Given the description of an element on the screen output the (x, y) to click on. 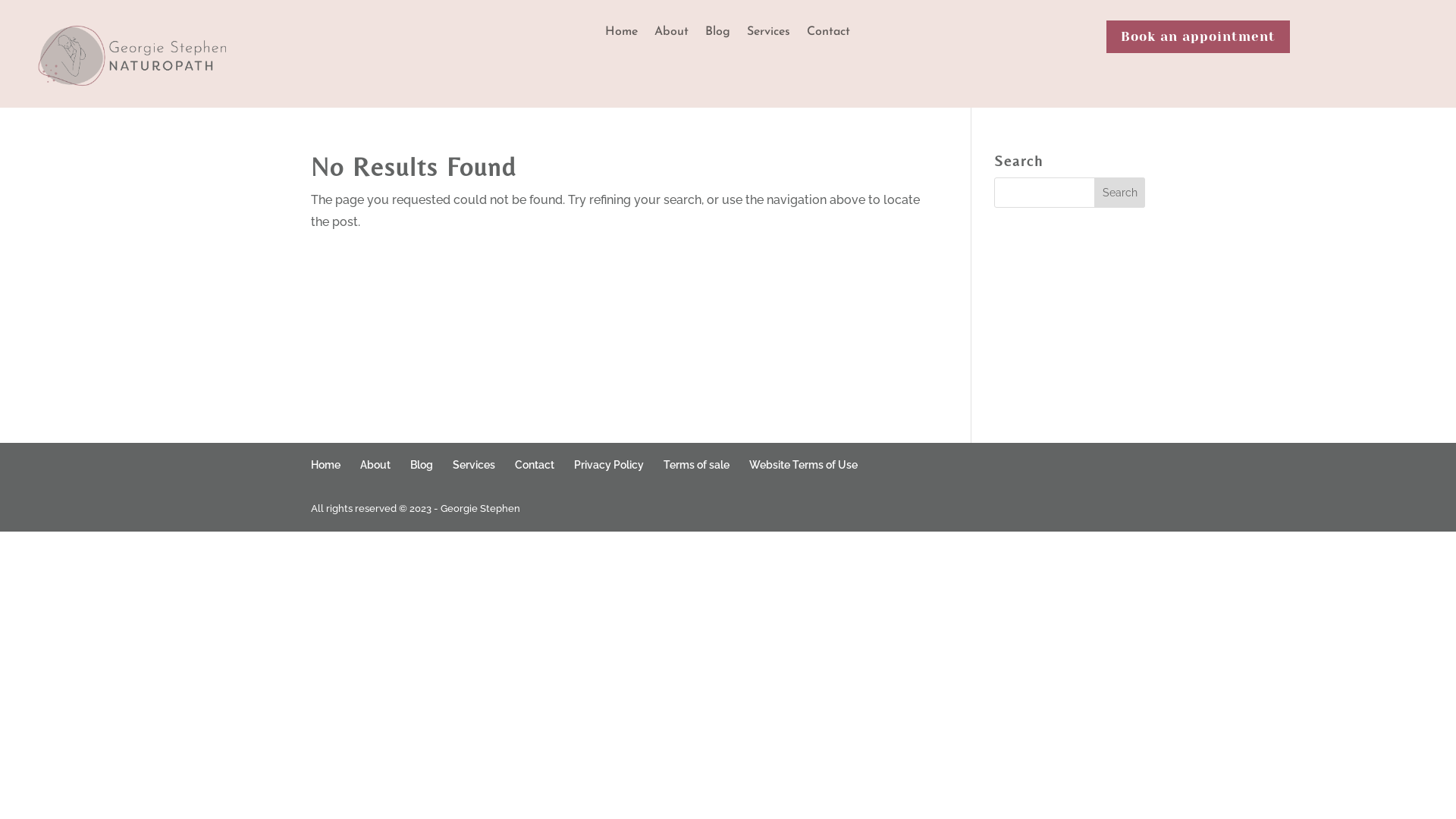
Search Element type: text (1119, 192)
Website Terms of Use Element type: text (803, 464)
Blog Element type: text (420, 464)
Contact Element type: text (533, 464)
Home Element type: text (621, 34)
About Element type: text (374, 464)
Contact Element type: text (828, 34)
Privacy Policy Element type: text (608, 464)
Terms of sale Element type: text (695, 464)
Book an appointment Element type: text (1197, 36)
Home Element type: text (325, 464)
Blog Element type: text (717, 34)
About Element type: text (671, 34)
Services Element type: text (768, 34)
GSN Logo Horizontal 2022 Element type: hover (134, 55)
Services Element type: text (472, 464)
